Given the description of an element on the screen output the (x, y) to click on. 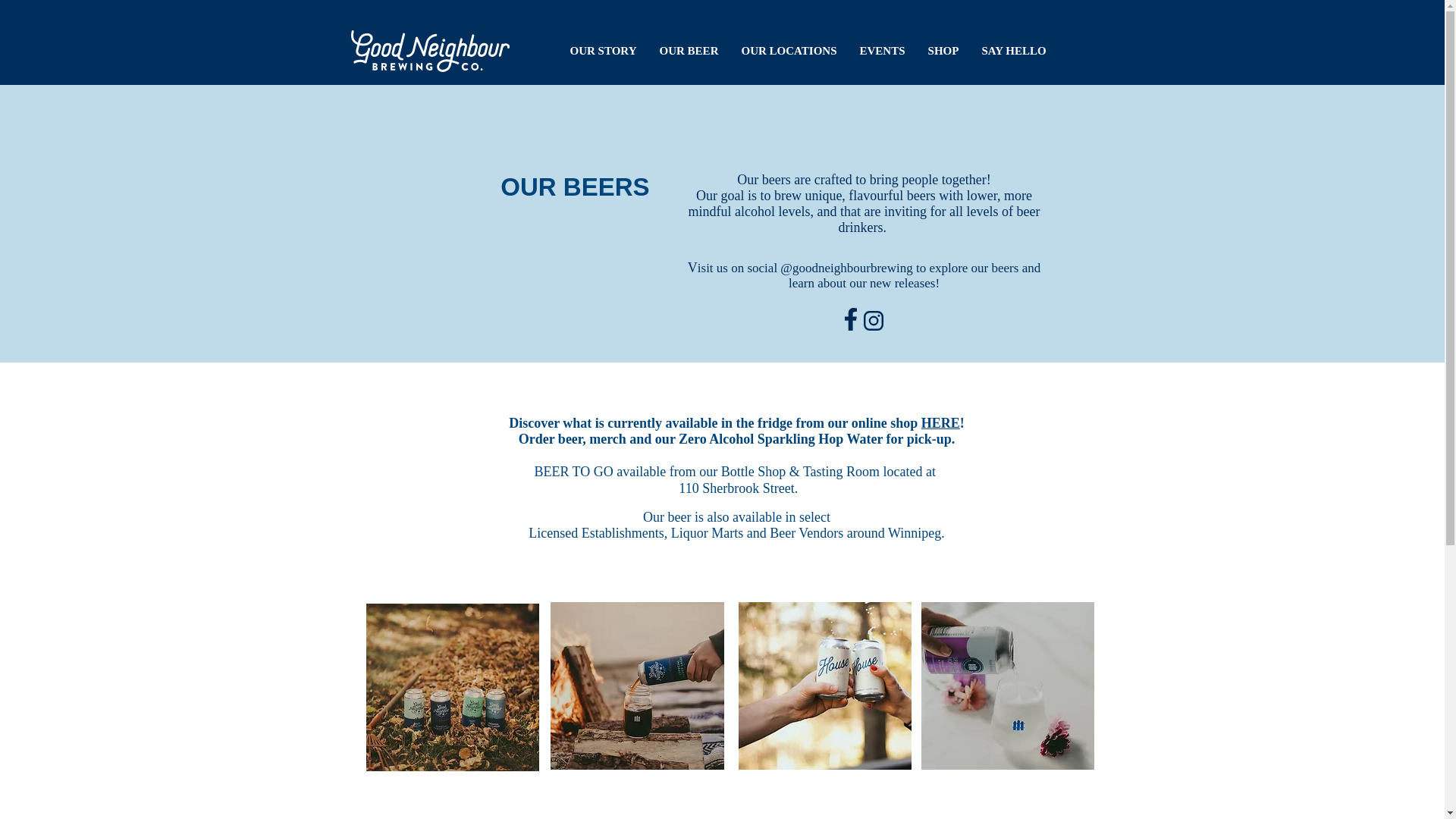
SHOP (942, 51)
SAY HELLO (1014, 51)
HERE (940, 422)
OUR BEER (688, 51)
OUR LOCATIONS (788, 51)
EVENTS (881, 51)
OUR STORY (602, 51)
